Given the description of an element on the screen output the (x, y) to click on. 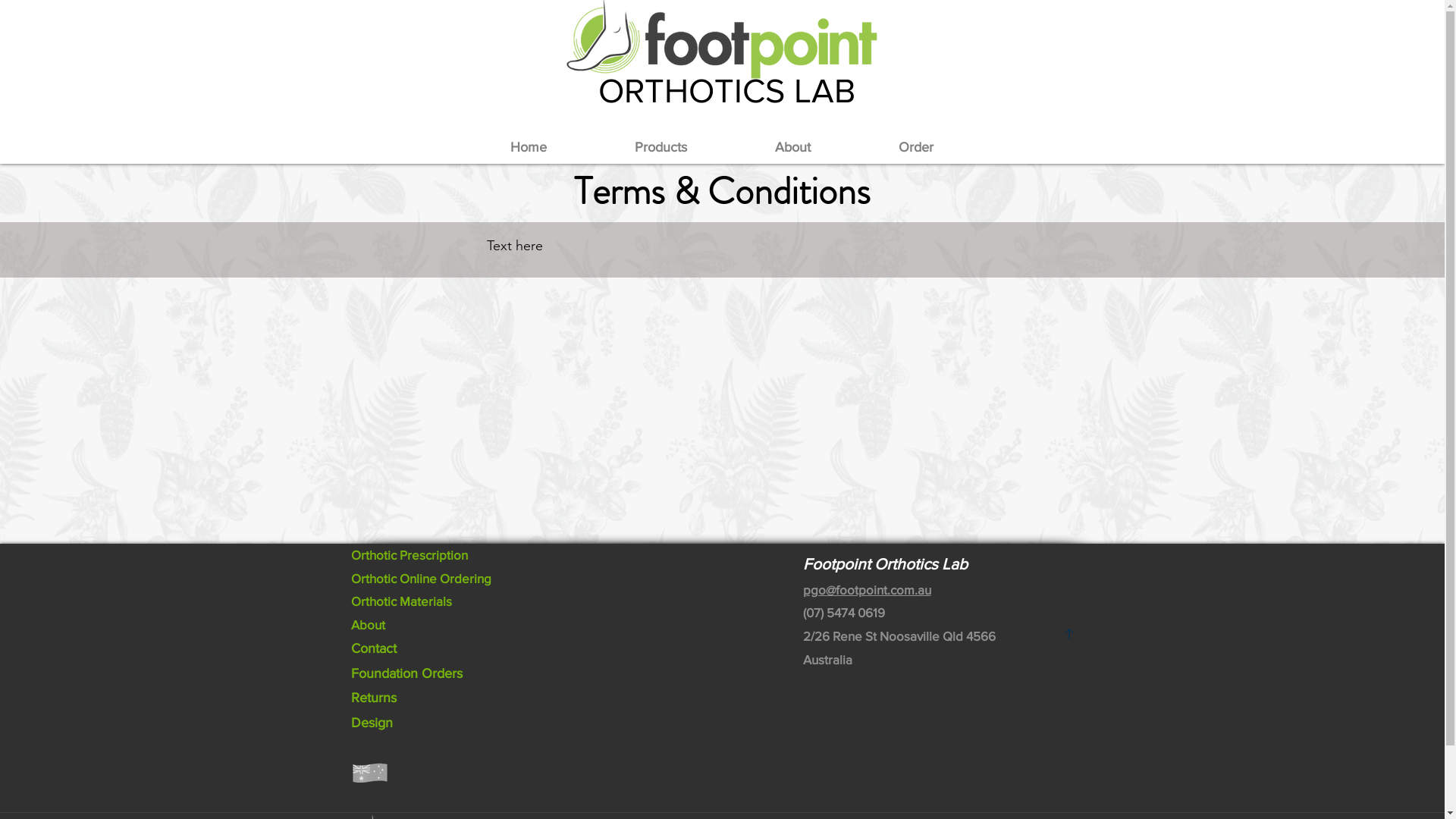
Orthotic Materials Element type: text (400, 600)
Footpoint is an Australian company. Element type: hover (368, 772)
Design Element type: text (371, 722)
Home Element type: text (527, 147)
Orthotic Prescription Element type: text (408, 554)
Returns Element type: text (372, 697)
Orthotic Online Ordering Element type: text (420, 578)
Order Element type: text (914, 147)
Contact Element type: text (372, 647)
pgo@footpoint.com.au Element type: text (866, 589)
Foundation Orders Element type: text (405, 672)
About Element type: text (367, 624)
